Given the description of an element on the screen output the (x, y) to click on. 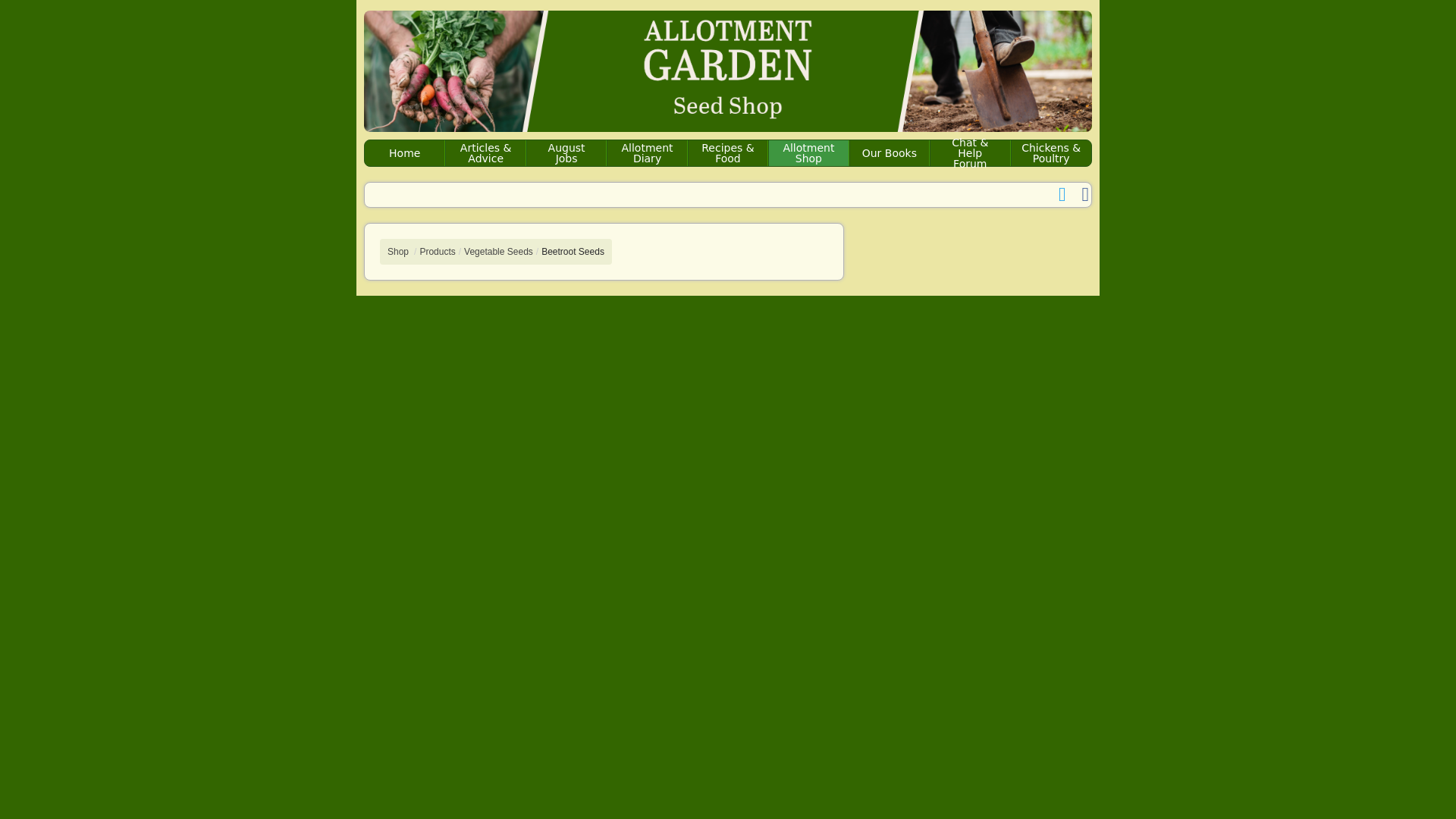
Home (405, 153)
Shop (398, 251)
Beetroot Seeds (572, 251)
Allotment Shop (808, 153)
Our Books (889, 153)
Products (436, 251)
Allotment Diary (647, 153)
Albina Ice Beetroot Seeds (572, 251)
Vegetable Seeds (498, 251)
Products (436, 251)
August Jobs (566, 153)
Vegetable Seeds (498, 251)
